Given the description of an element on the screen output the (x, y) to click on. 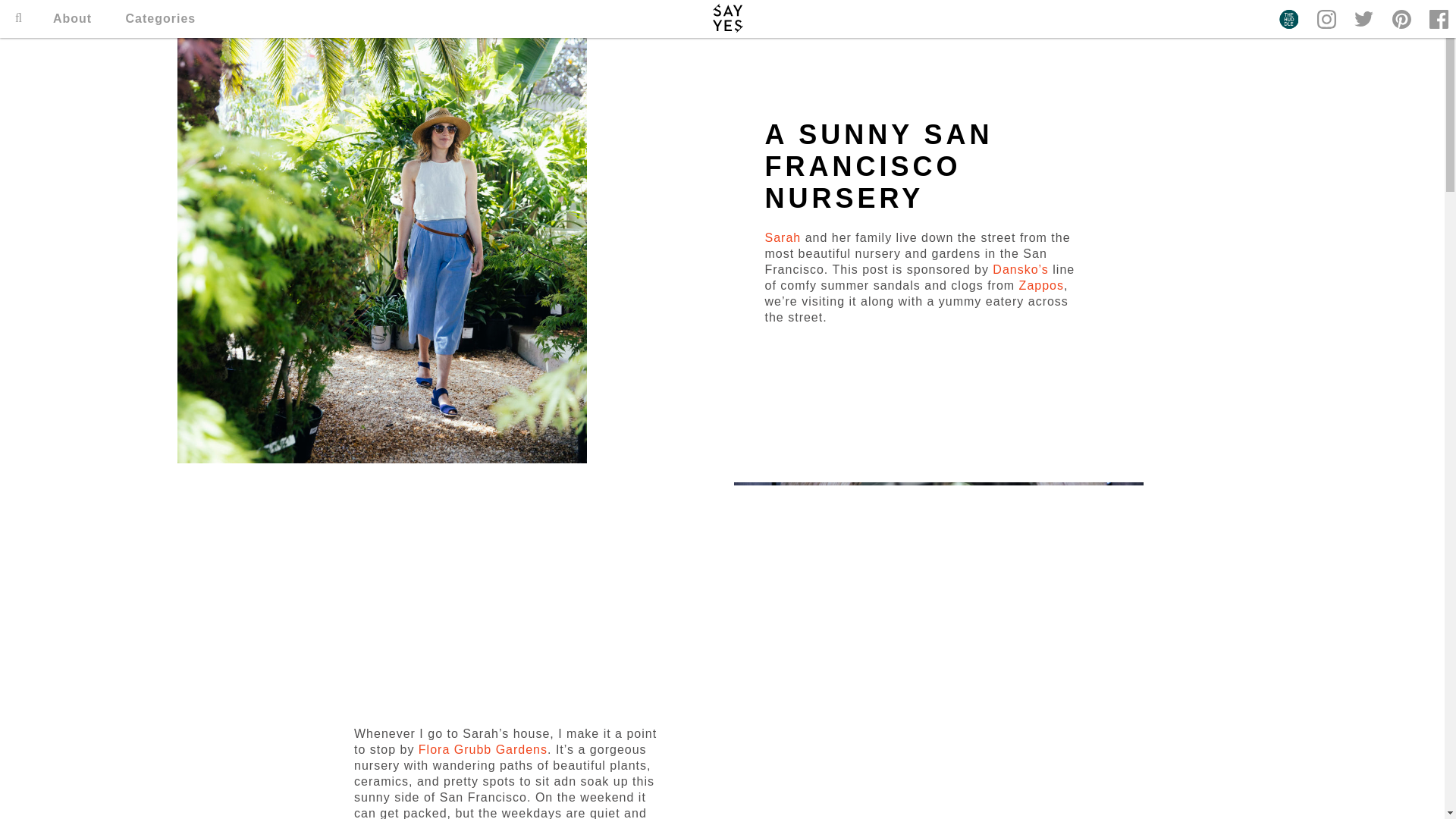
Zappos (1039, 285)
Categories (160, 18)
Sarah (782, 237)
About (71, 18)
Flora Grubb Gardens (483, 748)
